Given the description of an element on the screen output the (x, y) to click on. 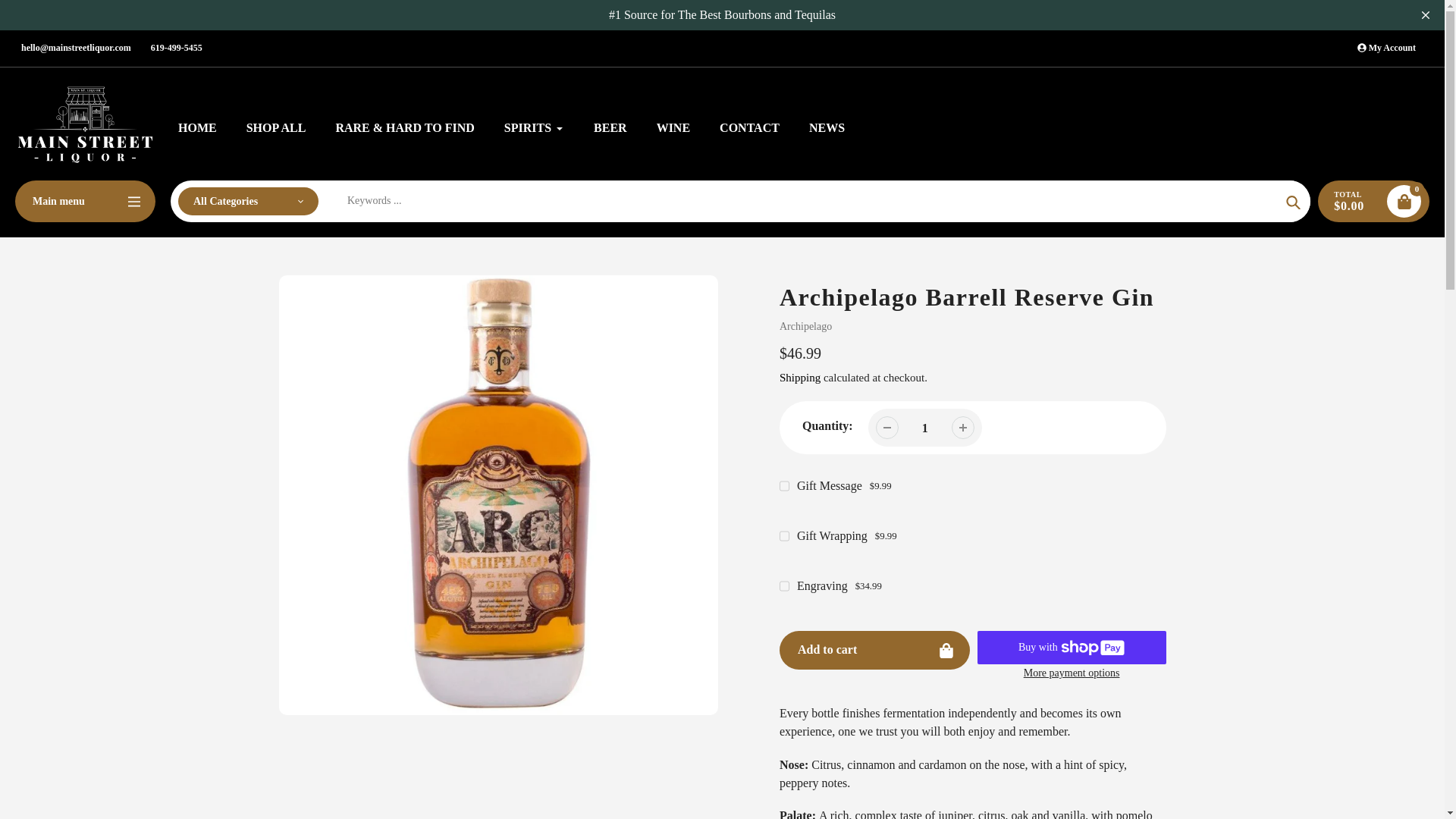
Main menu (84, 200)
HOME (196, 127)
BEER (610, 127)
WINE (673, 127)
SPIRITS (533, 127)
SHOP ALL (275, 127)
619-499-5455 (176, 48)
1 (925, 427)
My Account (1386, 48)
CONTACT (748, 127)
